Given the description of an element on the screen output the (x, y) to click on. 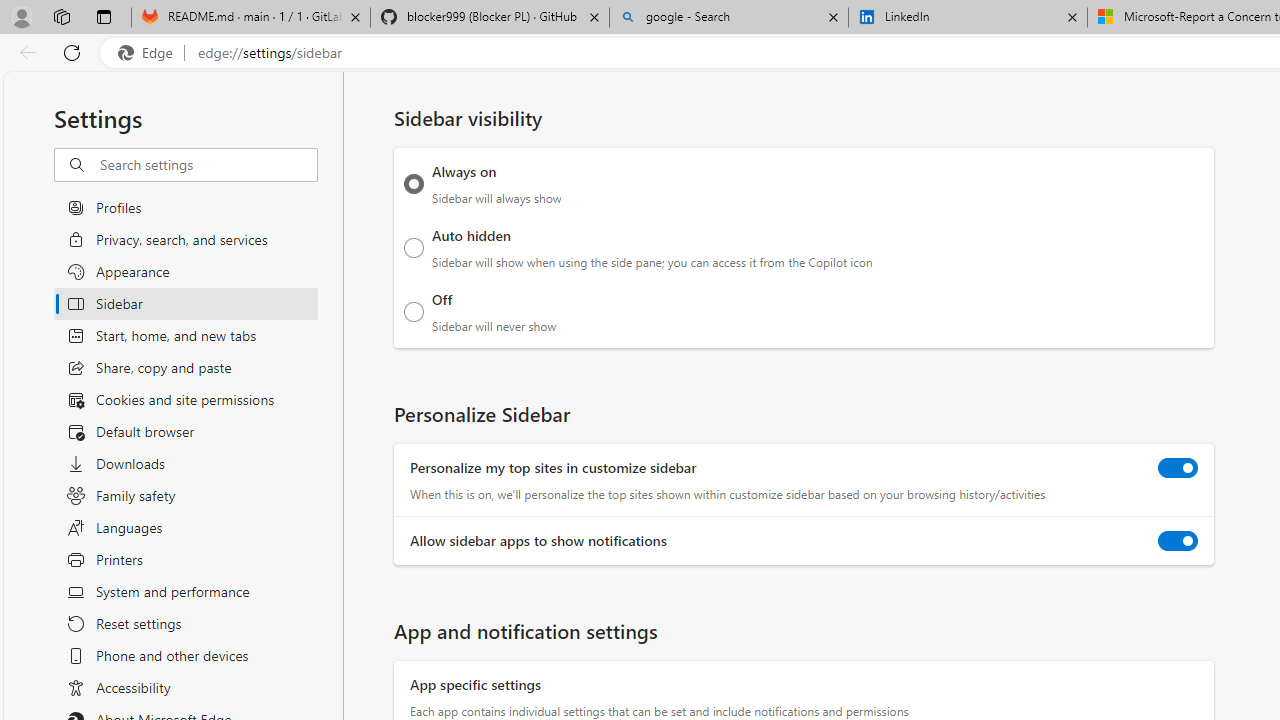
Search settings (207, 165)
